Given the description of an element on the screen output the (x, y) to click on. 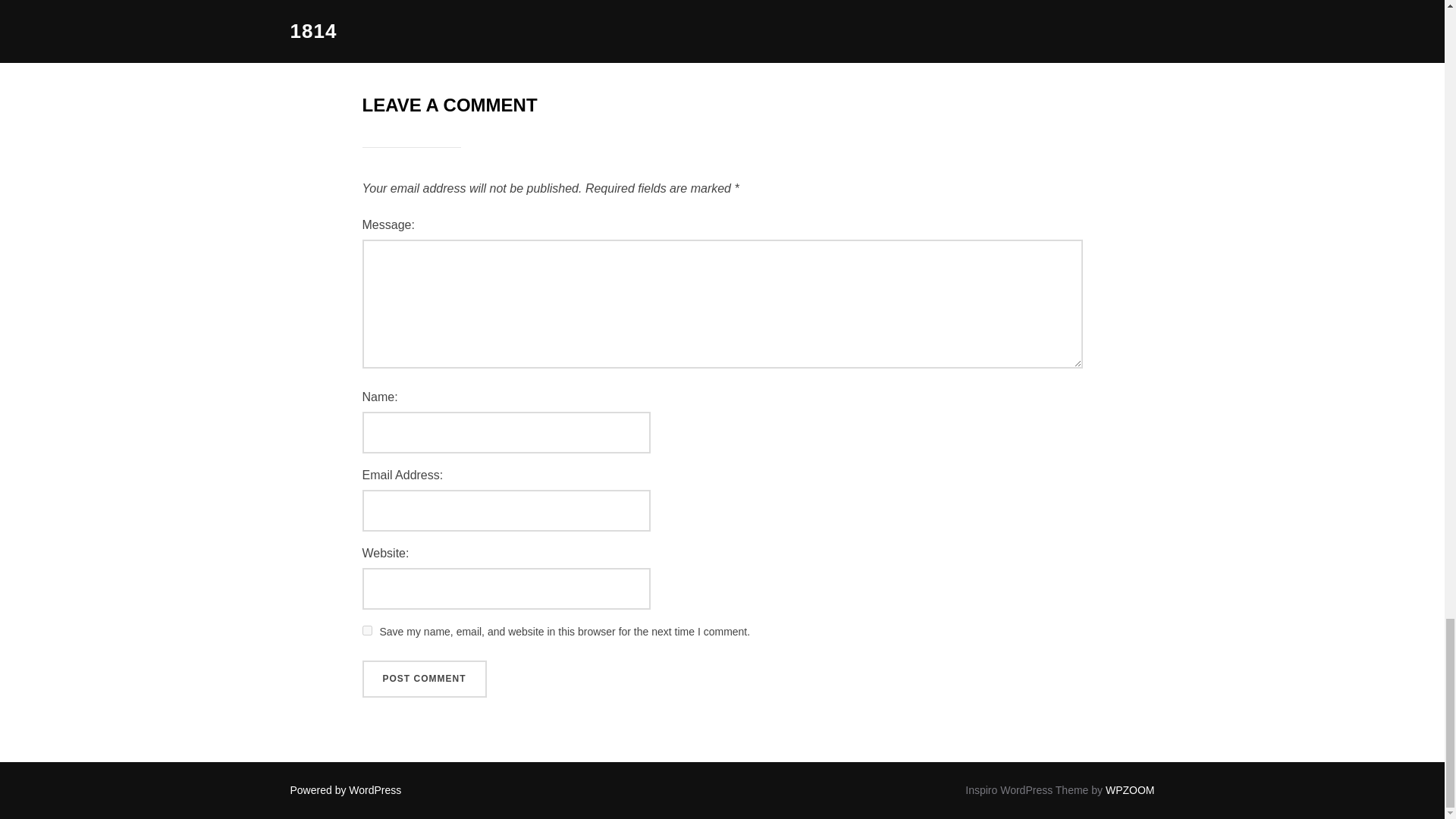
yes (367, 630)
Powered by WordPress (345, 789)
WPZOOM (1129, 789)
Post Comment (424, 679)
Post Comment (424, 679)
